Given the description of an element on the screen output the (x, y) to click on. 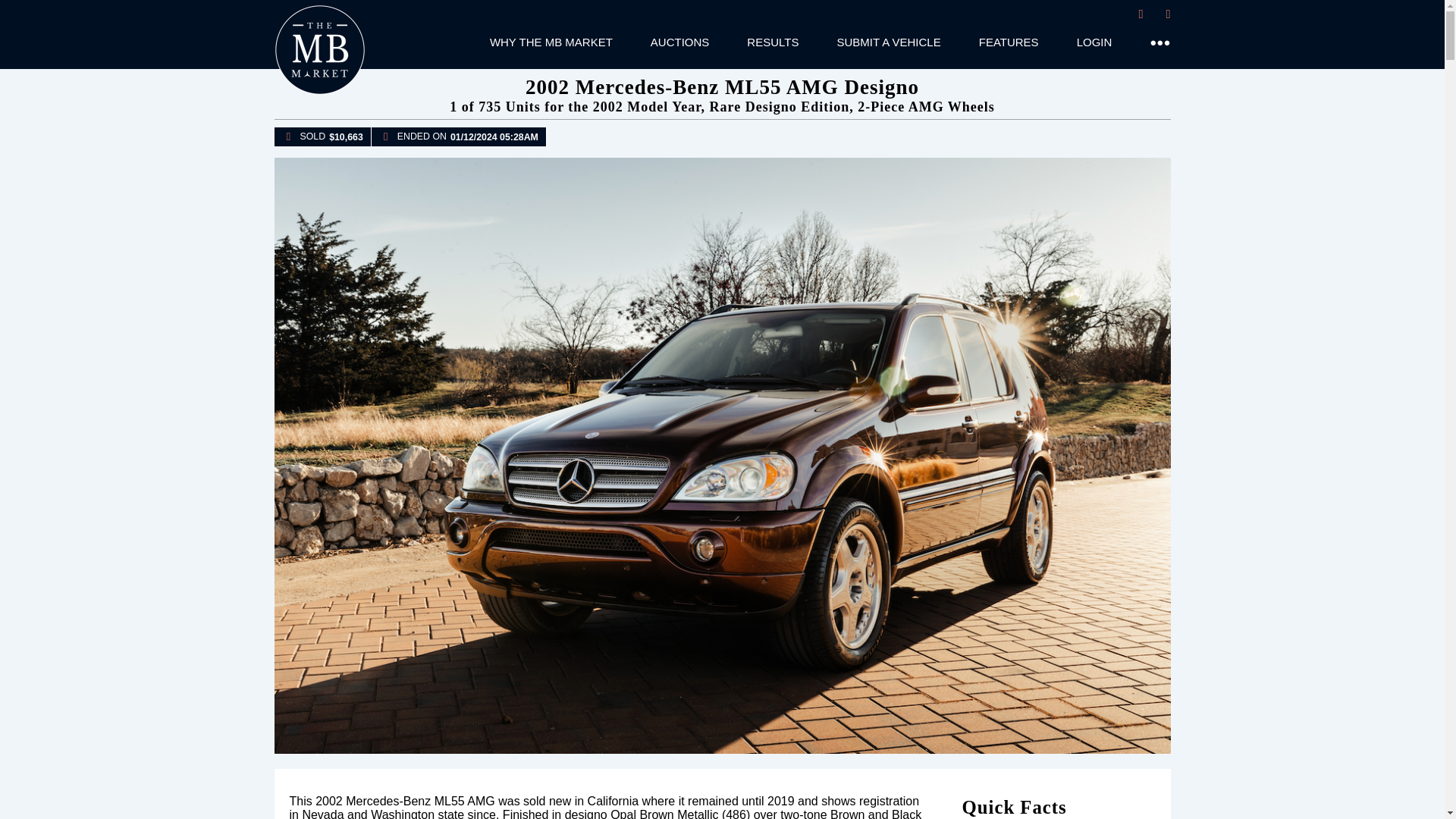
AUCTIONS (680, 41)
LOGIN (1094, 41)
FEATURES (1008, 41)
RESULTS (772, 41)
WHY THE MB MARKET (550, 41)
SUBMIT A VEHICLE (887, 41)
